Given the description of an element on the screen output the (x, y) to click on. 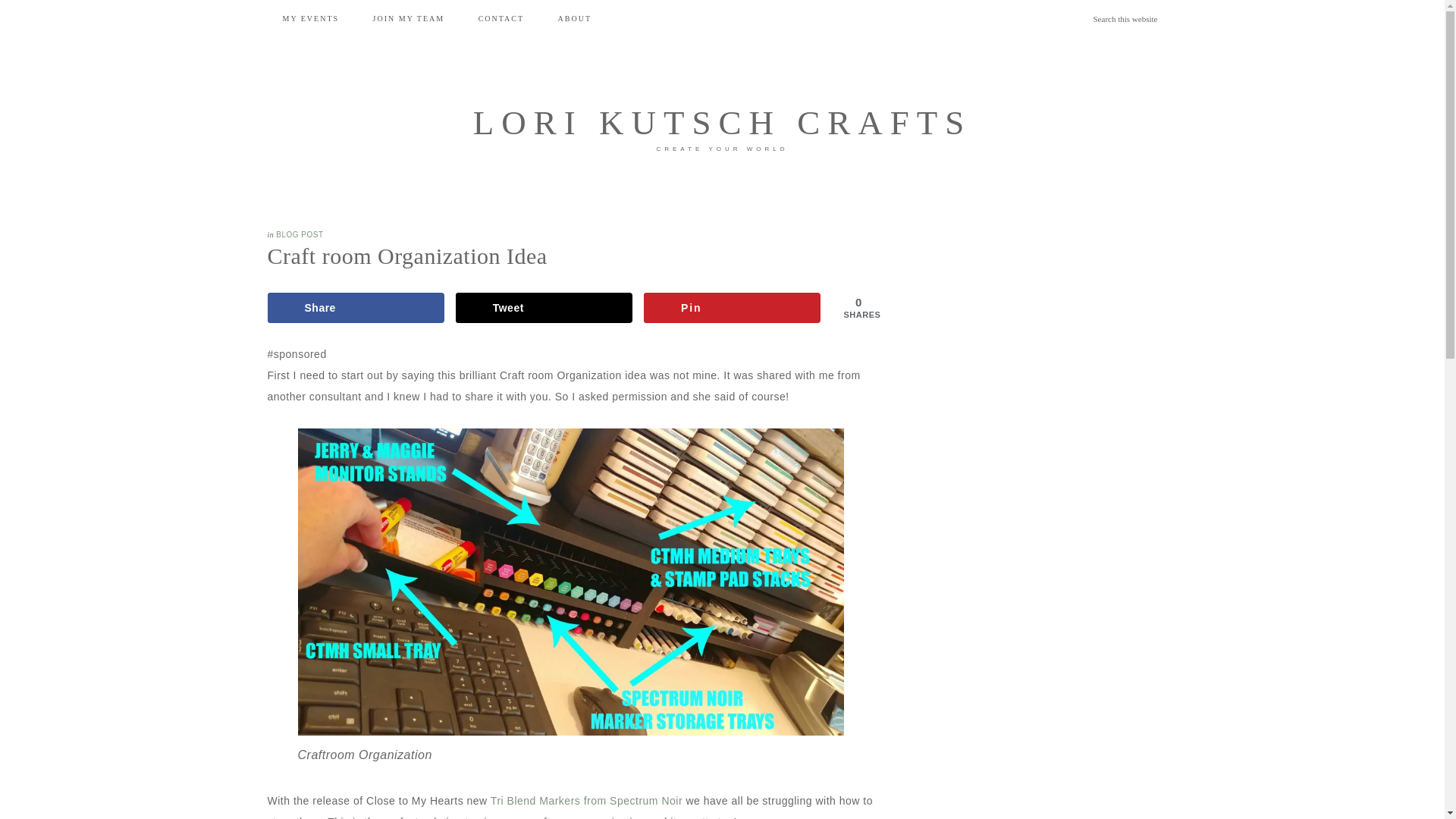
Tweet (544, 307)
JOIN MY TEAM (409, 18)
LORI KUTSCH CRAFTS (722, 122)
Share (355, 307)
Share on Facebook (355, 307)
Save to Pinterest (732, 307)
Share on X (544, 307)
CONTACT (500, 18)
Tri Blend Markers from Spectrum Noir (586, 800)
